Given the description of an element on the screen output the (x, y) to click on. 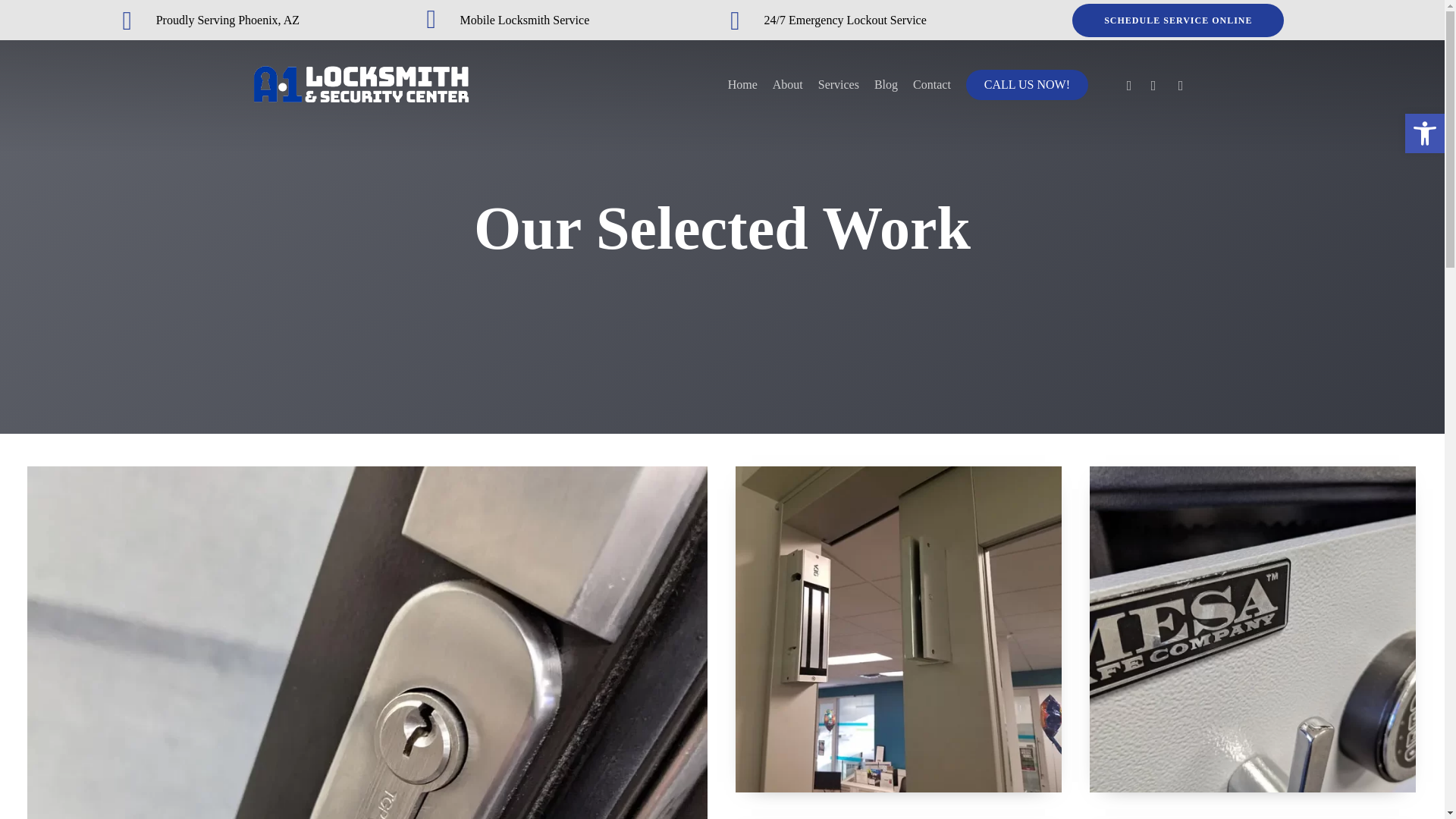
About (788, 84)
Services (838, 84)
linkedin (1153, 84)
Accessibility Tools (1424, 133)
facebook (1129, 84)
SCHEDULE SERVICE ONLINE (1177, 20)
Contact (931, 84)
instagram (1180, 84)
Blog (1424, 133)
